Given the description of an element on the screen output the (x, y) to click on. 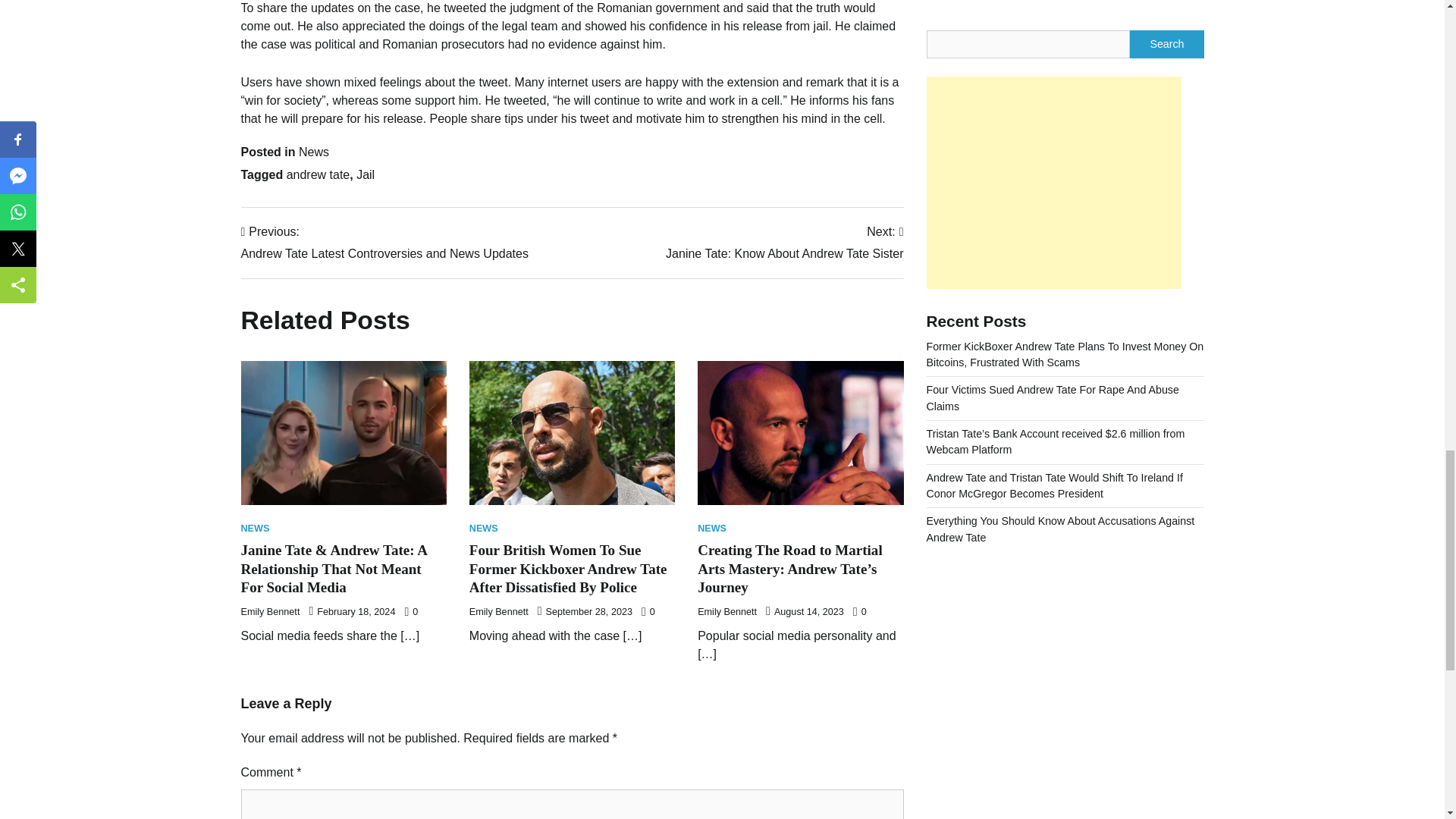
NEWS (711, 528)
andrew tate (783, 242)
Emily Bennett (318, 174)
Jail (270, 611)
NEWS (365, 174)
NEWS (482, 528)
Emily Bennett (255, 528)
Emily Bennett (384, 242)
News (727, 611)
